Given the description of an element on the screen output the (x, y) to click on. 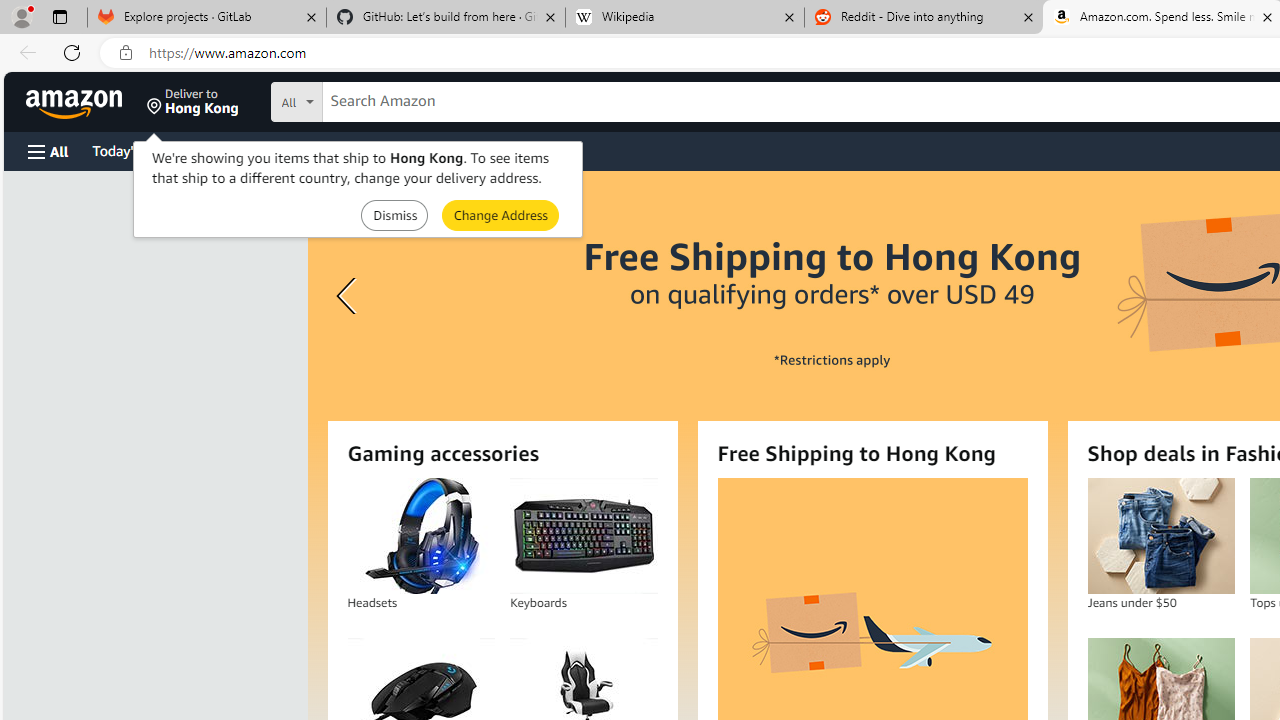
Previous slide (349, 296)
Gift Cards (442, 150)
Keyboards (583, 536)
Today's Deals (134, 150)
Submit (499, 214)
Jeans under $50 (1160, 536)
Sell (509, 150)
Registry (360, 150)
Deliver to Hong Kong (193, 101)
